Given the description of an element on the screen output the (x, y) to click on. 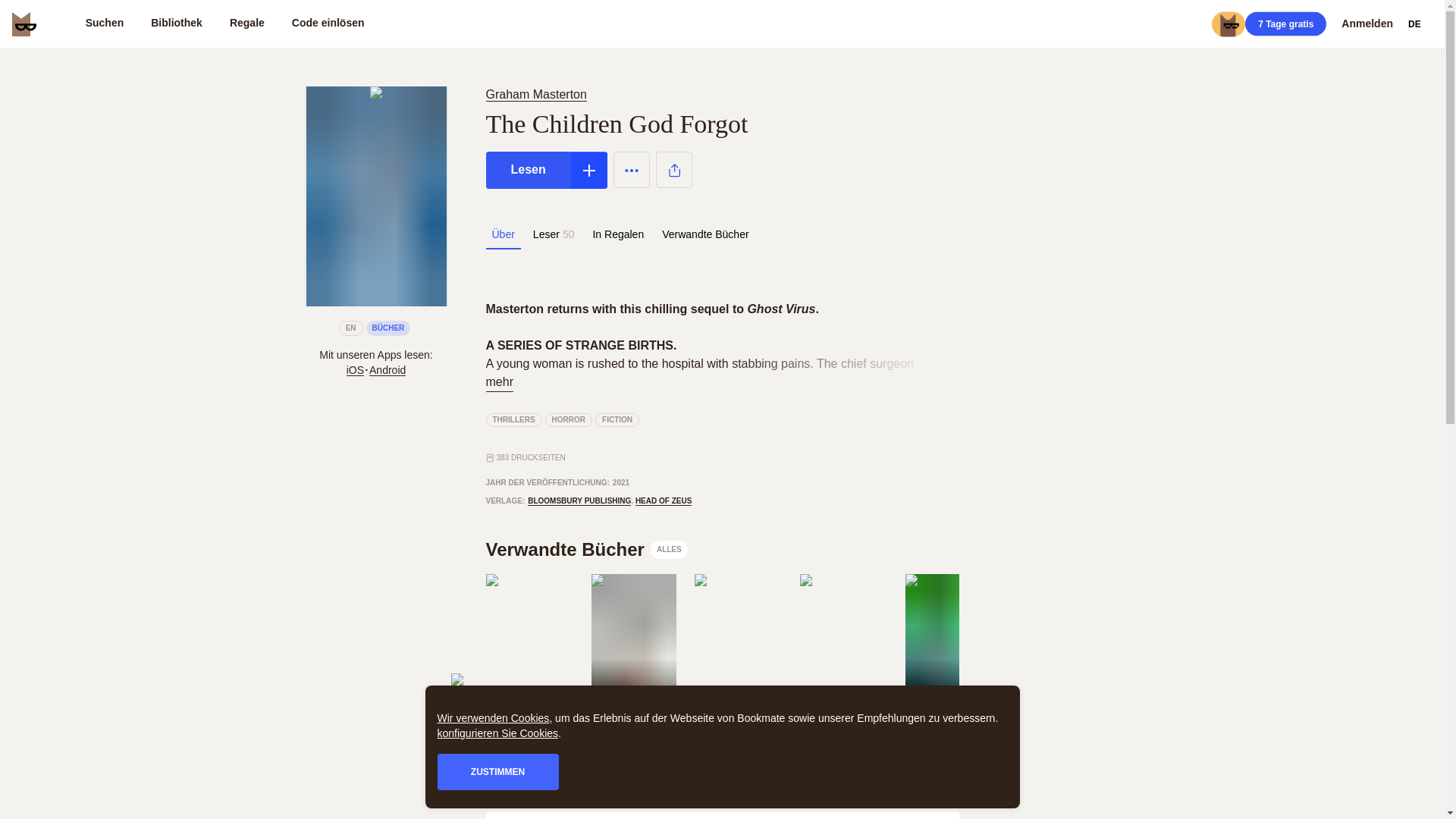
In Regalen (617, 234)
Taken for Dead (633, 734)
Graham Masterton (535, 94)
Graham Masterton (538, 93)
Graham Masterton (528, 720)
THRILLERS (512, 419)
Broken Angels (737, 734)
Night Wars (948, 734)
Wir verwenden Cookies (492, 717)
Graham Masterton (948, 720)
Graham Masterton (843, 720)
HEAD OF ZEUS (662, 501)
Graham Masterton (737, 720)
Bibliothek (176, 24)
Night Wars (948, 734)
